Given the description of an element on the screen output the (x, y) to click on. 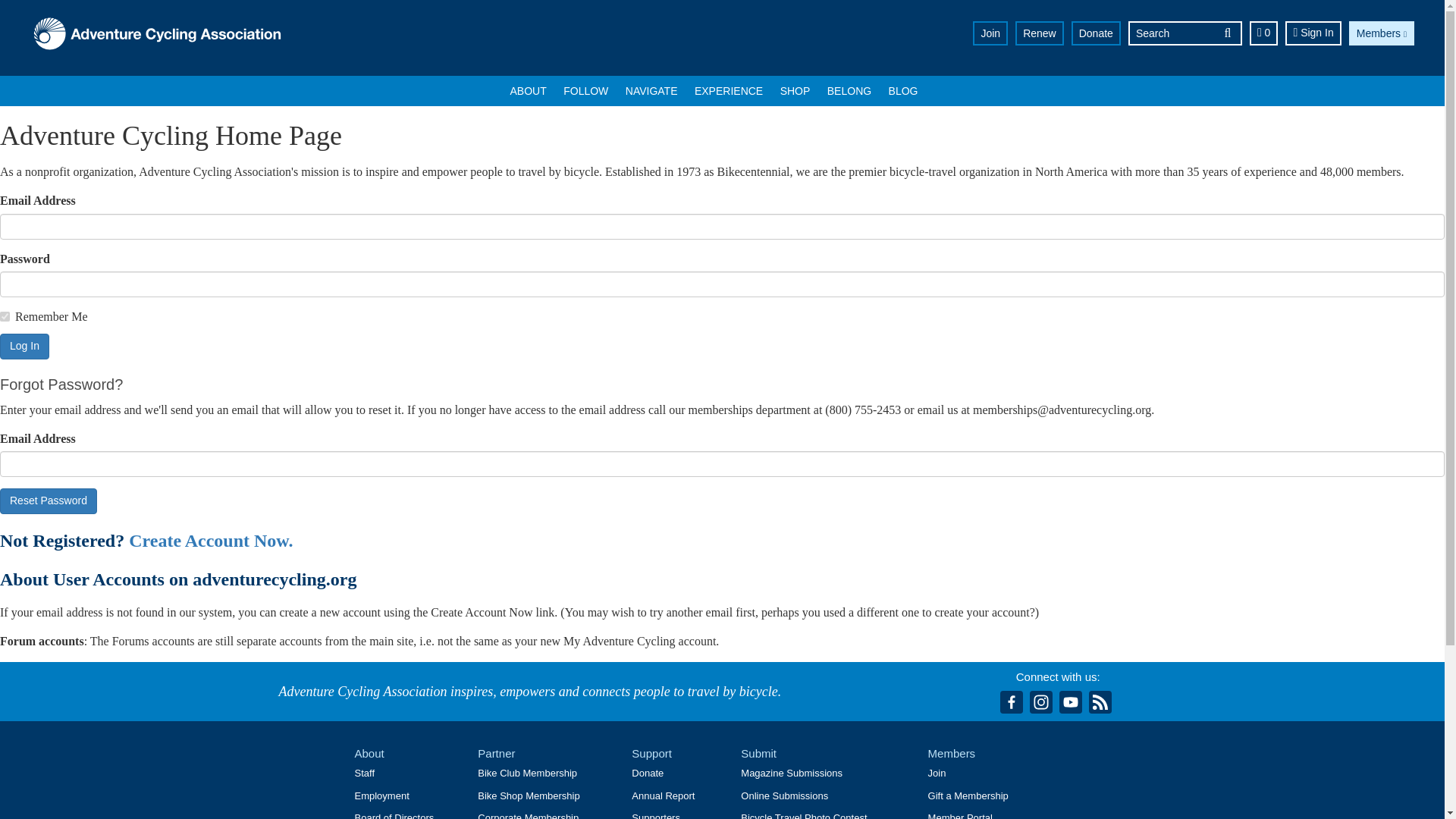
1 (5, 316)
FOLLOW (585, 91)
Adventure Cycling Association (156, 34)
NAVIGATE (651, 91)
Members (1381, 33)
0 (1263, 33)
Sign In (1312, 33)
Donate (1096, 33)
EXPERIENCE (728, 91)
Join (989, 33)
